Given the description of an element on the screen output the (x, y) to click on. 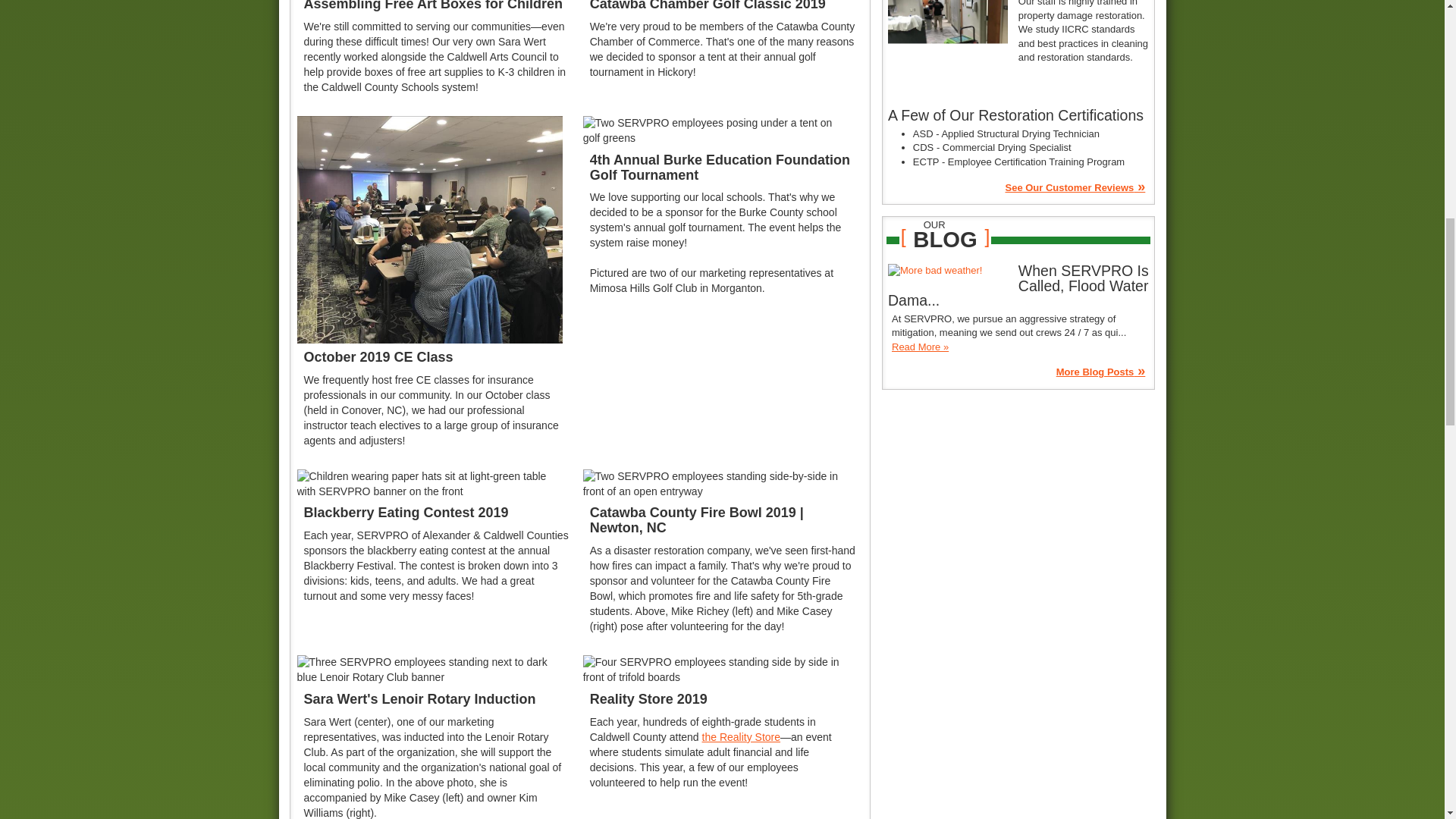
Reality Store (740, 736)
